Given the description of an element on the screen output the (x, y) to click on. 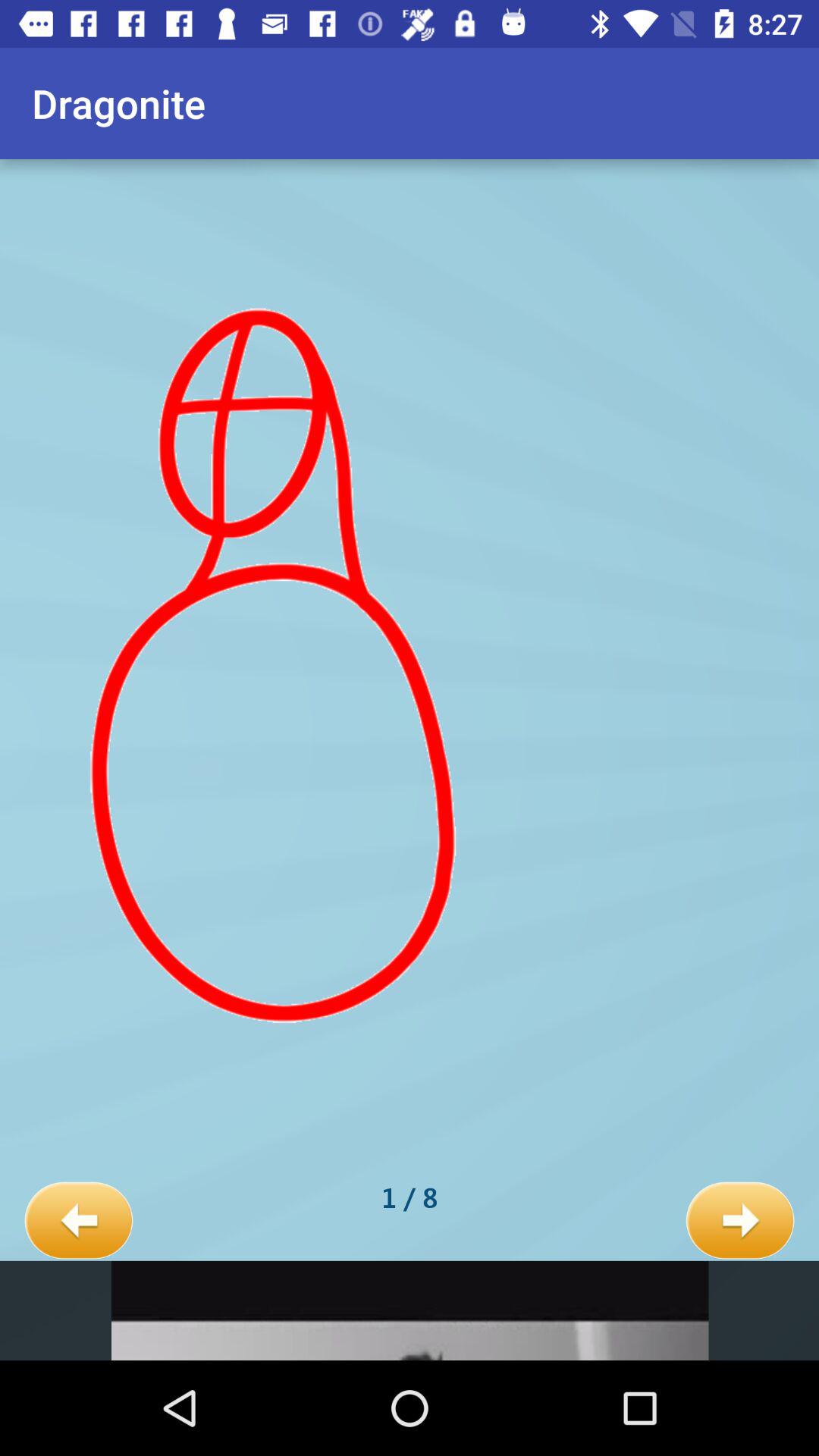
press the icon below dragonite item (78, 1220)
